Given the description of an element on the screen output the (x, y) to click on. 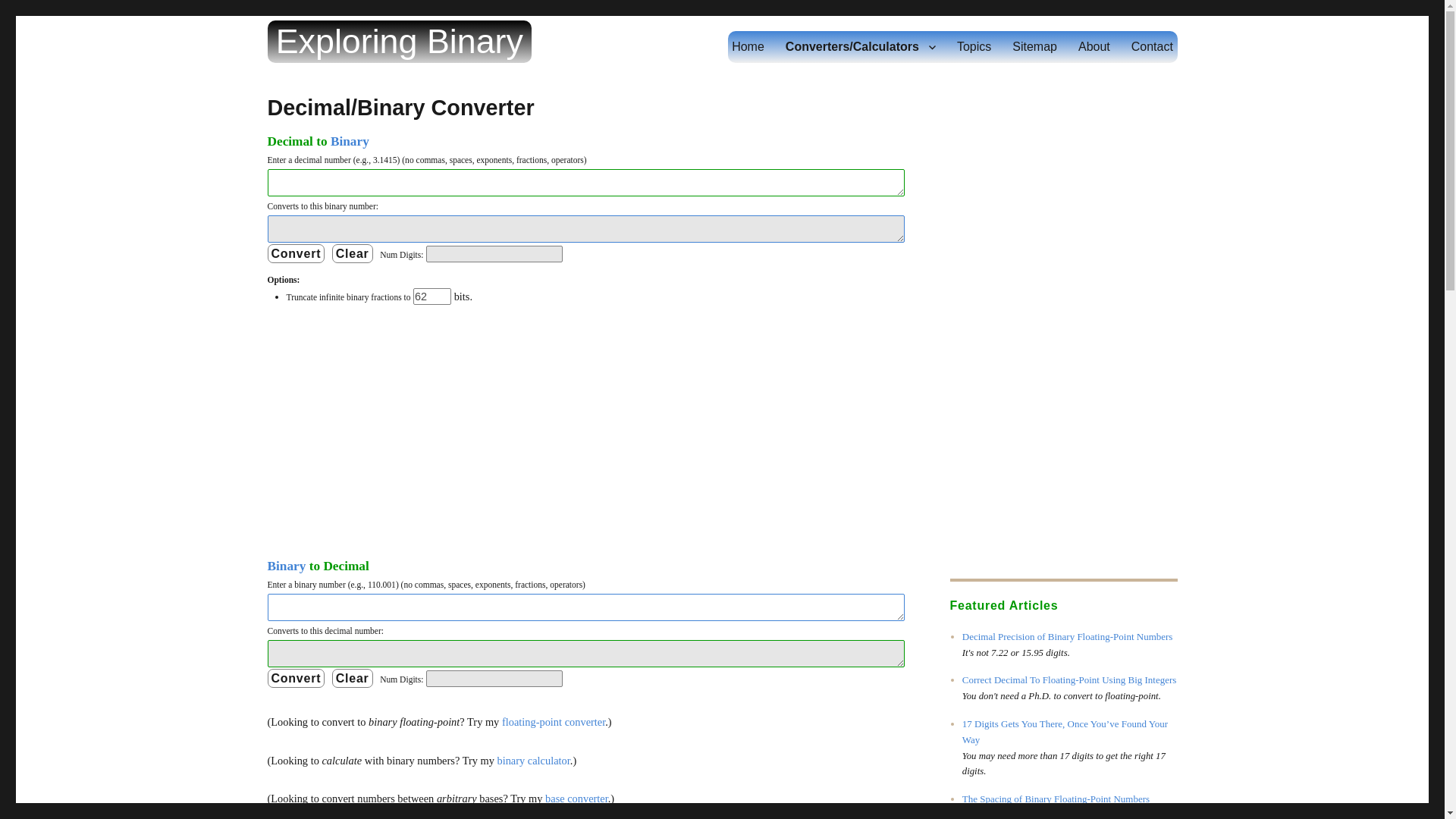
Clear (351, 253)
Decimal Precision of Binary Floating-Point Numbers (1067, 636)
Correct Decimal To Floating-Point Using Big Integers (1069, 679)
base converter (576, 798)
Convert (295, 253)
Convert (295, 678)
Convert (295, 678)
Home (747, 47)
Clear (351, 678)
Exploring Binary (399, 40)
Sitemap (1034, 47)
Clear (351, 678)
Contact (1152, 47)
The Spacing of Binary Floating-Point Numbers (1056, 798)
